Given the description of an element on the screen output the (x, y) to click on. 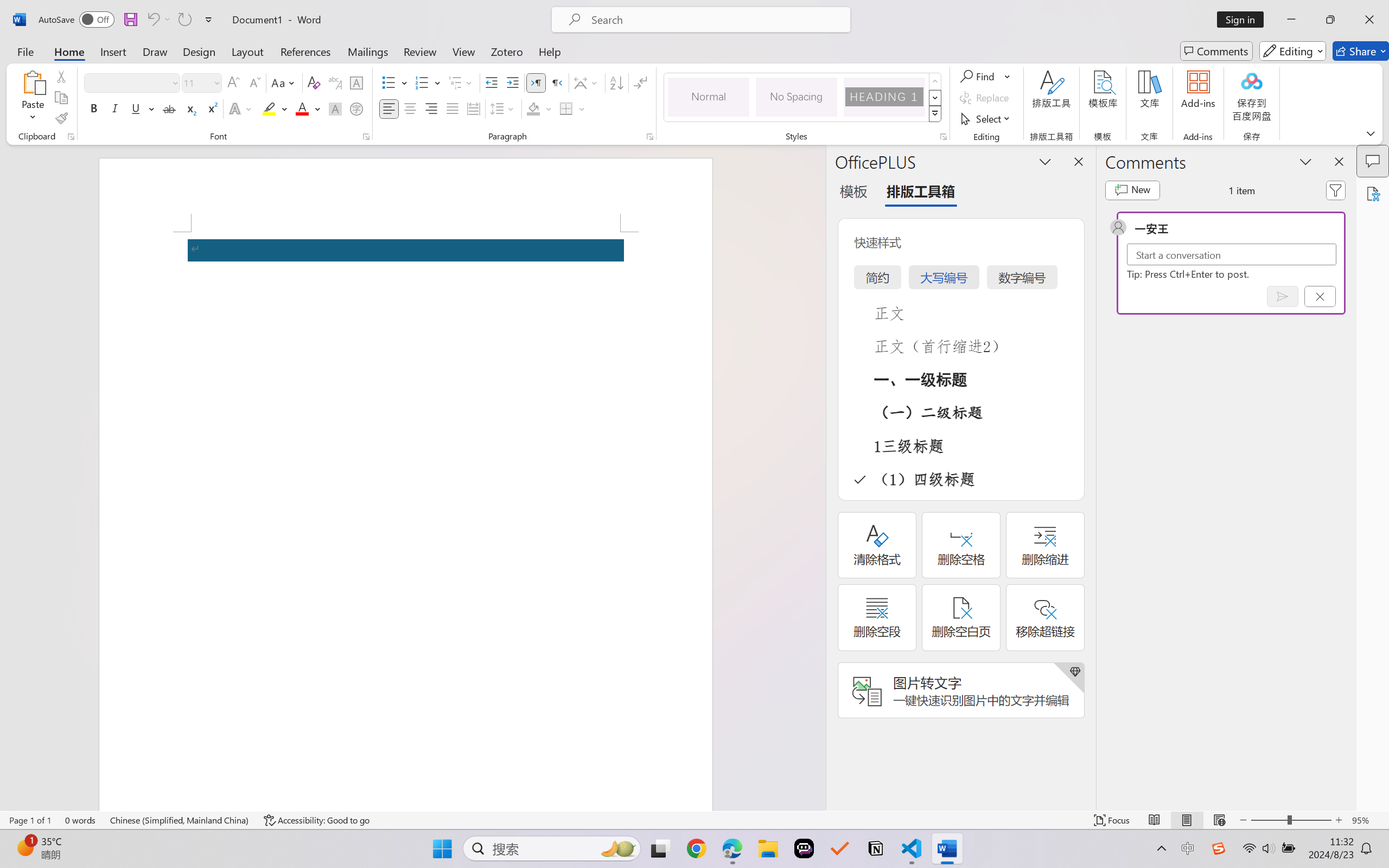
Editing (1292, 50)
Cancel (1320, 296)
